Given the description of an element on the screen output the (x, y) to click on. 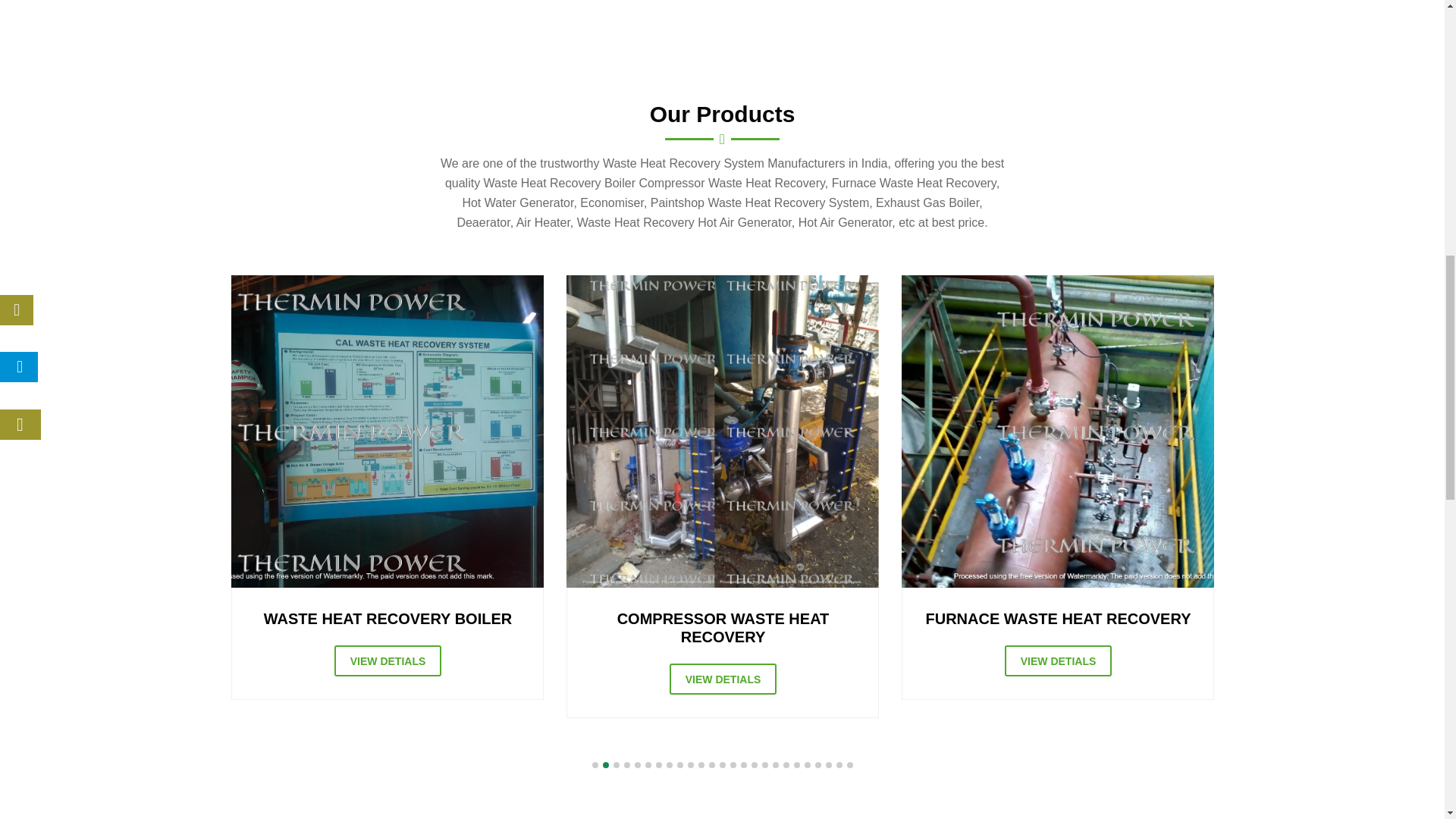
Compressor Waste Heat Recovery (721, 431)
Waste Heat Recovery Boiler (386, 431)
Furnace Waste Heat Recovery (1056, 431)
